Given the description of an element on the screen output the (x, y) to click on. 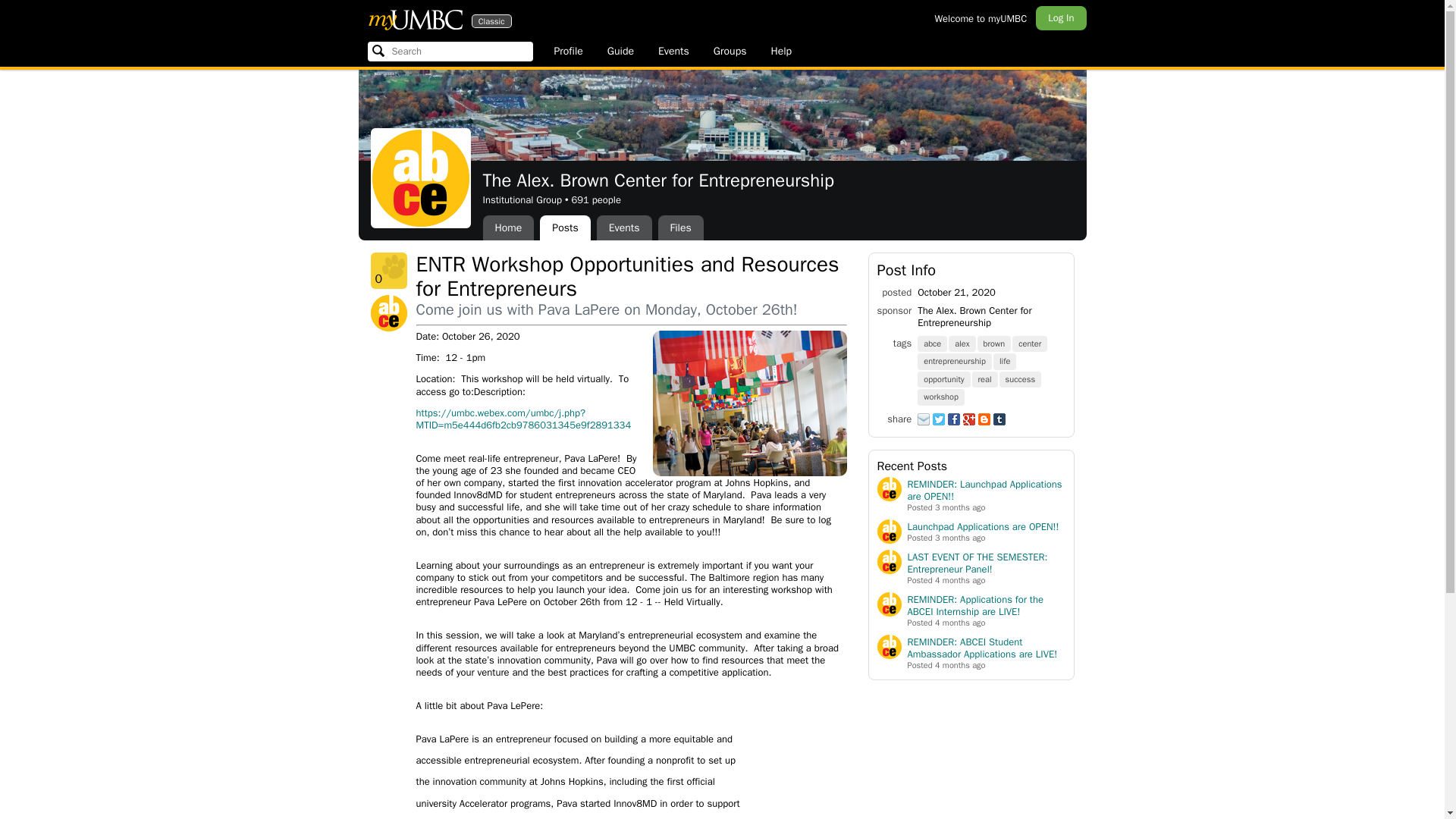
Files (680, 227)
Events (673, 51)
Groups (729, 51)
life (1004, 359)
Events (624, 227)
Guide (620, 51)
brown (994, 342)
alex (962, 342)
0 (387, 270)
Home (507, 227)
success (1020, 378)
workshop (941, 395)
center (1029, 342)
abce (933, 342)
Log In (1060, 17)
